Given the description of an element on the screen output the (x, y) to click on. 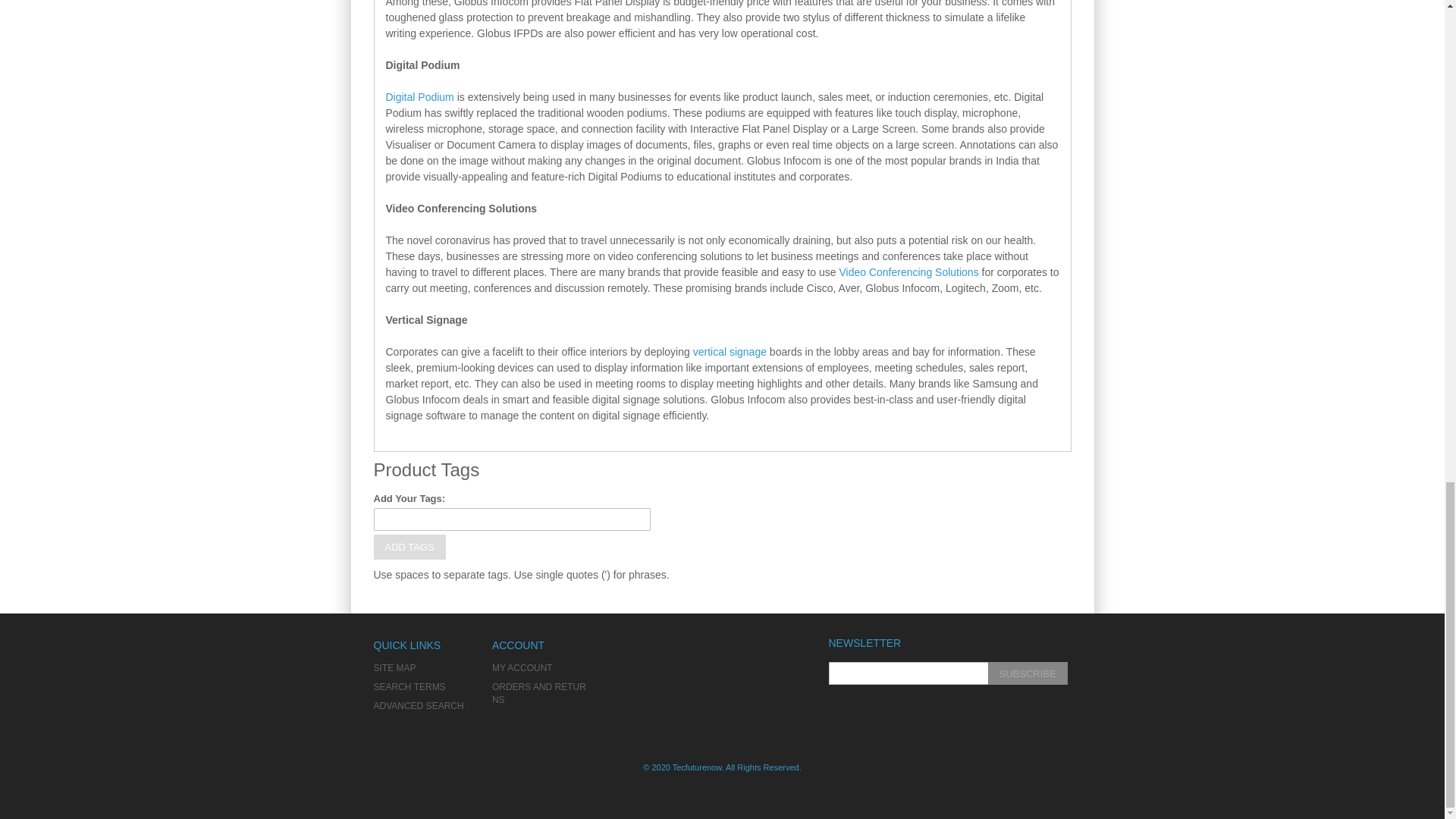
Search Terms (408, 686)
Video Conferencing Solutions (908, 272)
SEARCH TERMS (408, 686)
SUBSCRIBE (1027, 672)
Digital Podium (418, 96)
SITE MAP (393, 667)
Orders and Returns (539, 693)
Site Map (393, 667)
ORDERS AND RETURNS (539, 693)
My Account (522, 667)
vertical signage (730, 351)
ADVANCED SEARCH (417, 706)
Subscribe (1027, 672)
MY ACCOUNT (522, 667)
Advanced Search (417, 706)
